Given the description of an element on the screen output the (x, y) to click on. 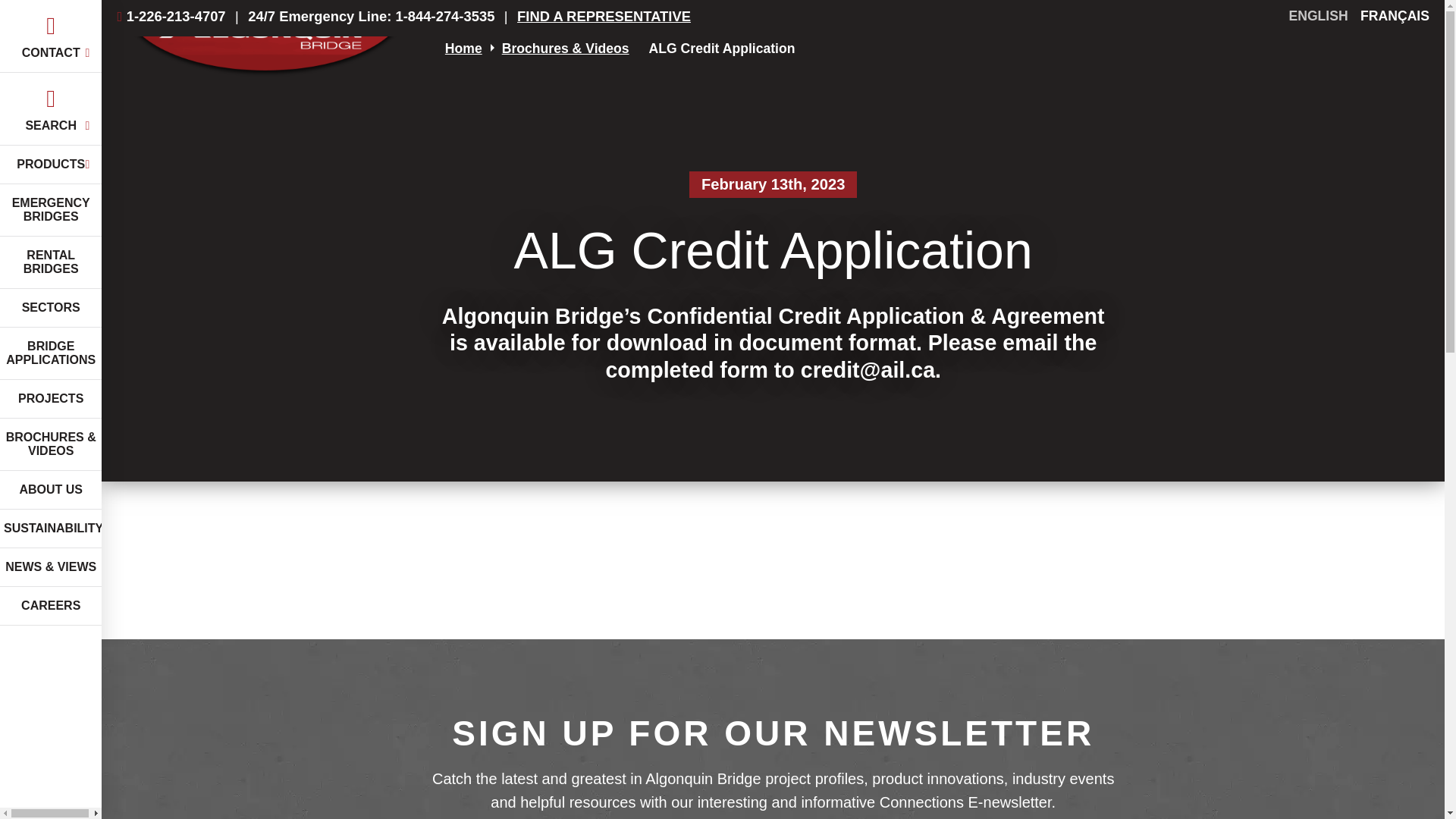
SEARCH (50, 108)
CONTACT (50, 36)
PROJECTS (50, 399)
return home (264, 49)
EMERGENCY BRIDGES (50, 210)
ABOUT US (50, 489)
PRODUCTS (50, 164)
SECTORS (50, 308)
CAREERS (50, 606)
BRIDGE APPLICATIONS (50, 353)
RENTAL BRIDGES (50, 262)
Go to Home. (463, 48)
SUSTAINABILITY (50, 528)
